Given the description of an element on the screen output the (x, y) to click on. 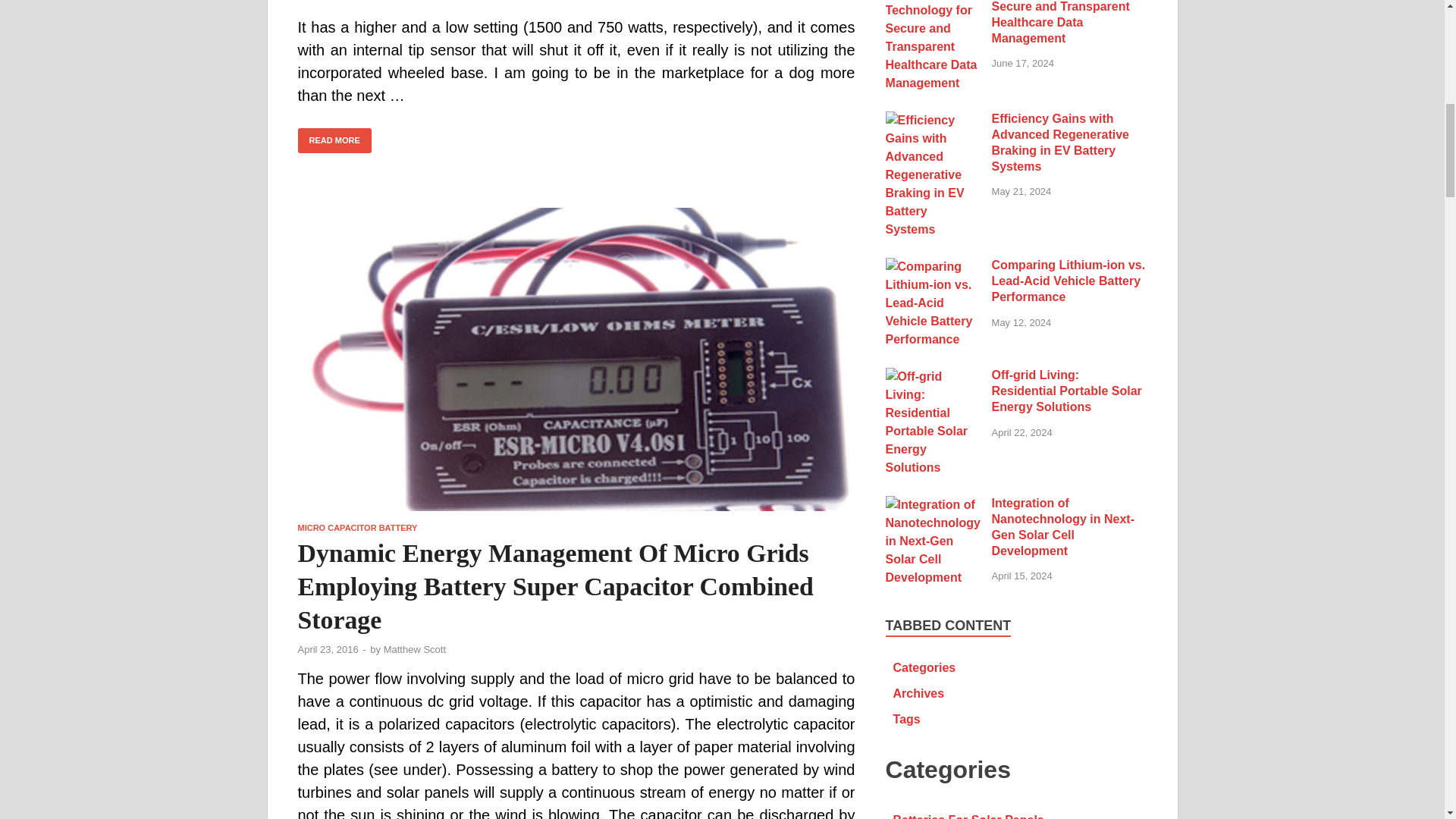
Off-grid Living: Residential Portable Solar Energy Solutions (932, 376)
